Given the description of an element on the screen output the (x, y) to click on. 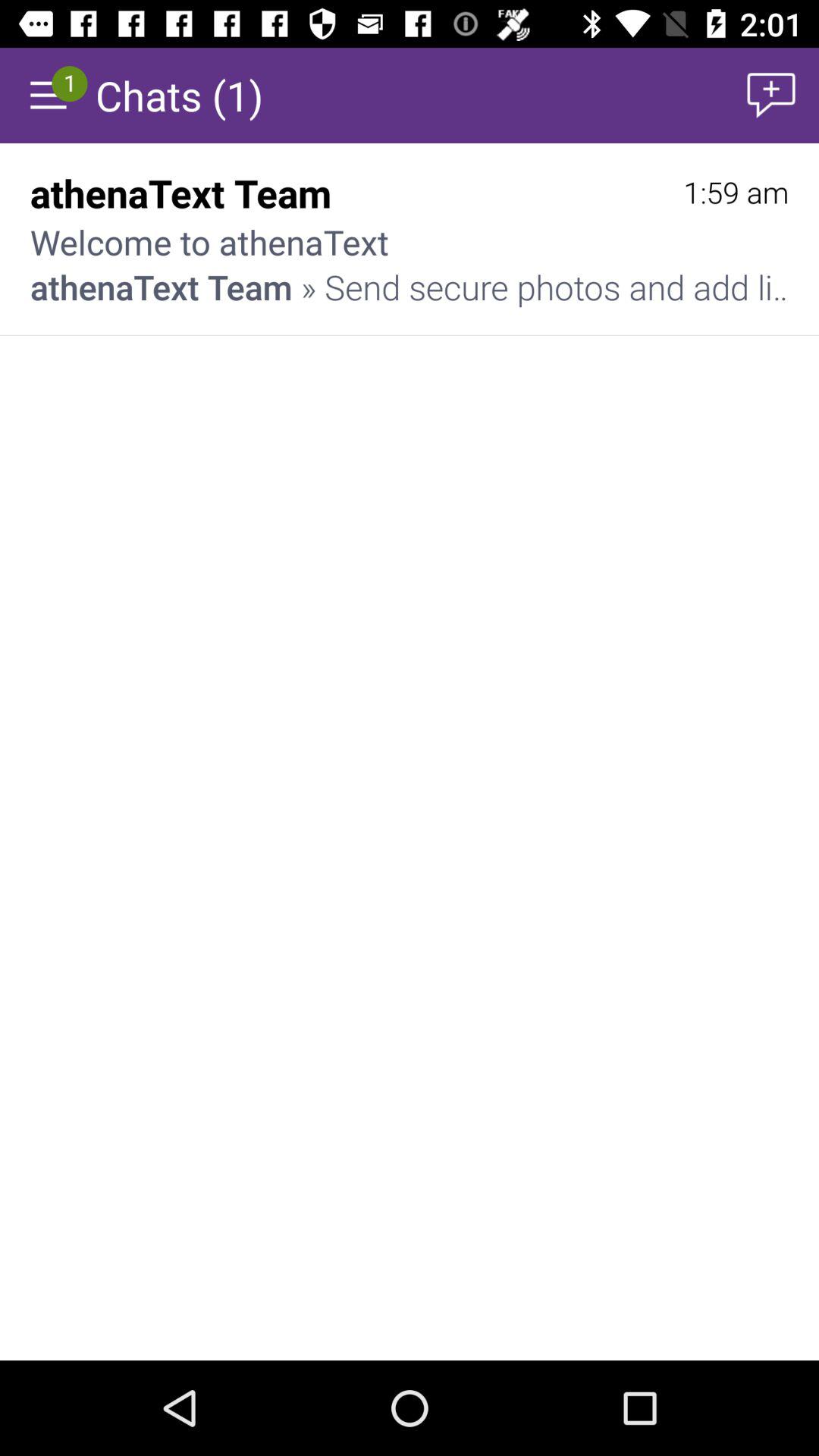
click the 1:59 am item (735, 192)
